Given the description of an element on the screen output the (x, y) to click on. 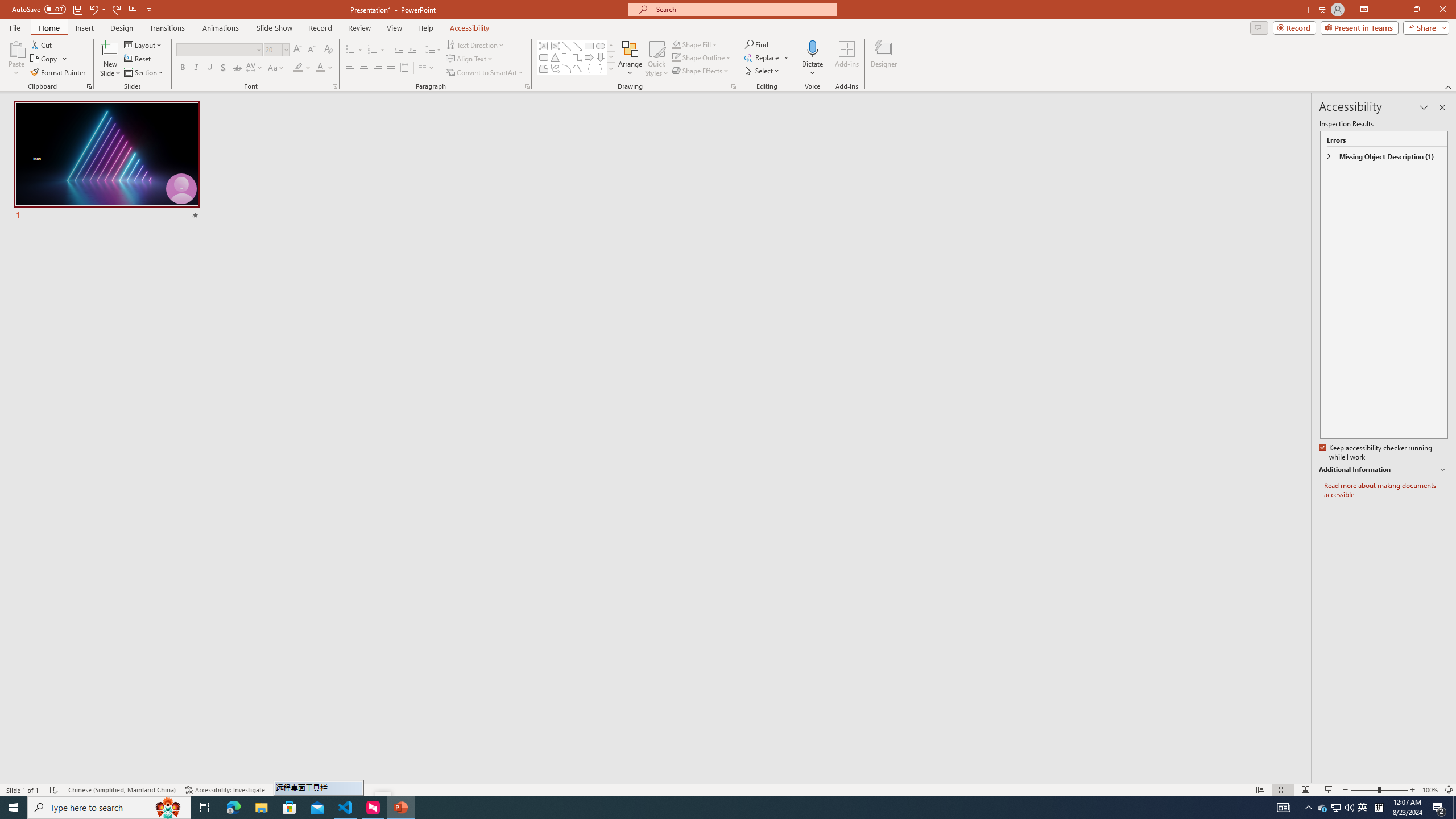
Shape Fill Orange, Accent 2 (675, 44)
Justify (390, 67)
Clear Formatting (327, 49)
